Given the description of an element on the screen output the (x, y) to click on. 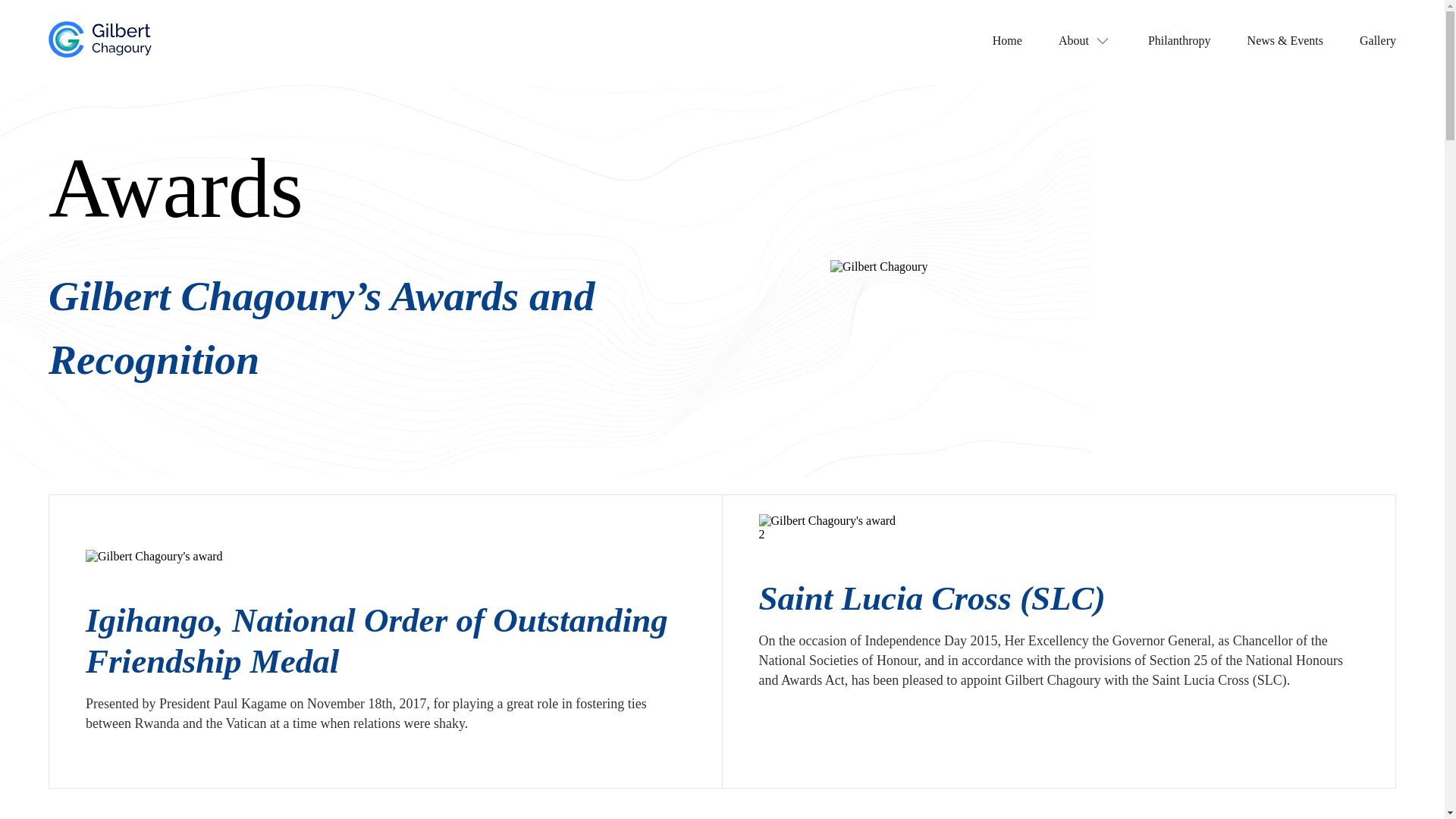
Home (1007, 40)
About (1085, 40)
Gallery (1377, 40)
Philanthropy (1179, 40)
